Given the description of an element on the screen output the (x, y) to click on. 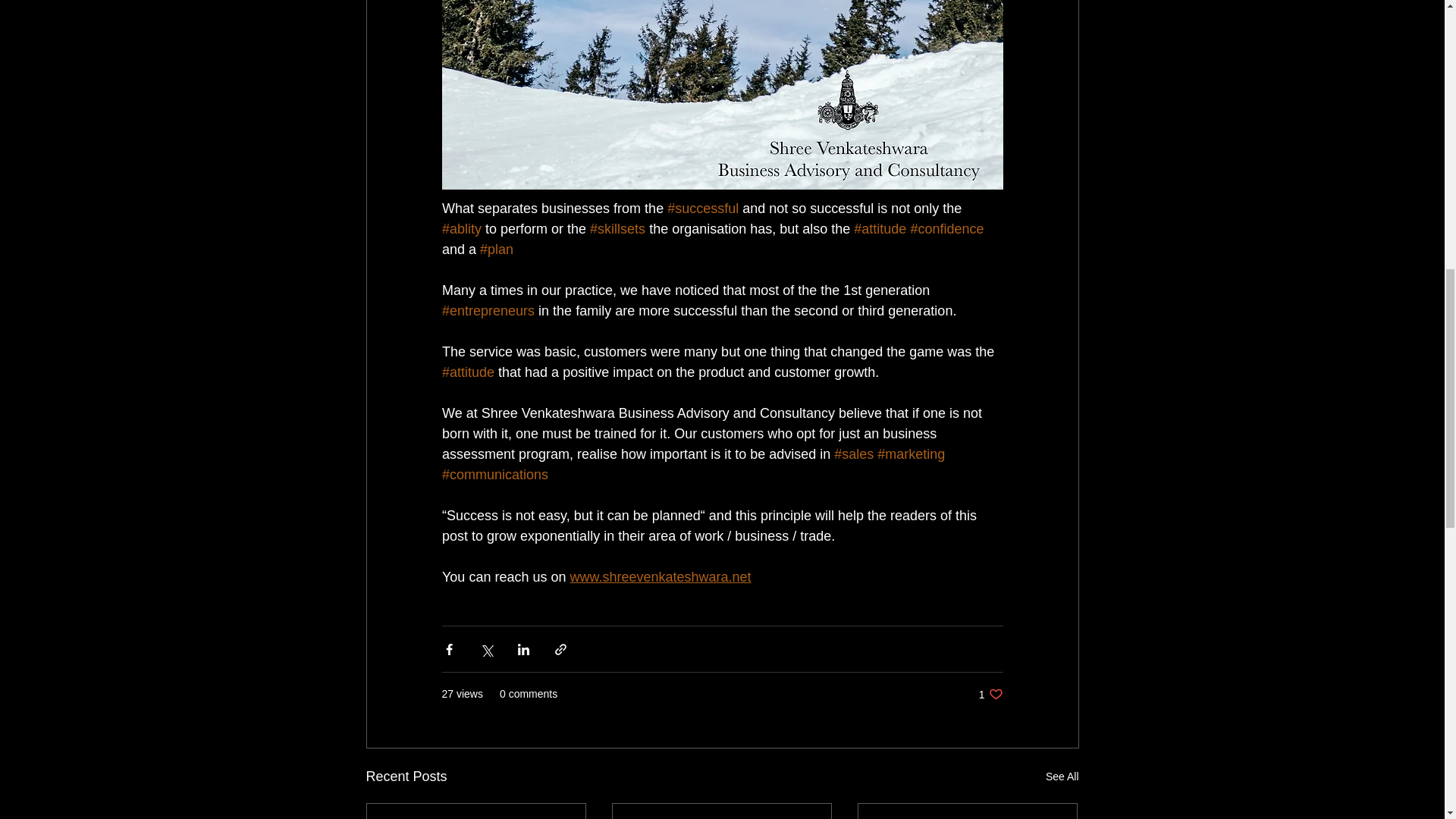
See All (1061, 776)
www.shreevenkateshwara.net (660, 576)
